Given the description of an element on the screen output the (x, y) to click on. 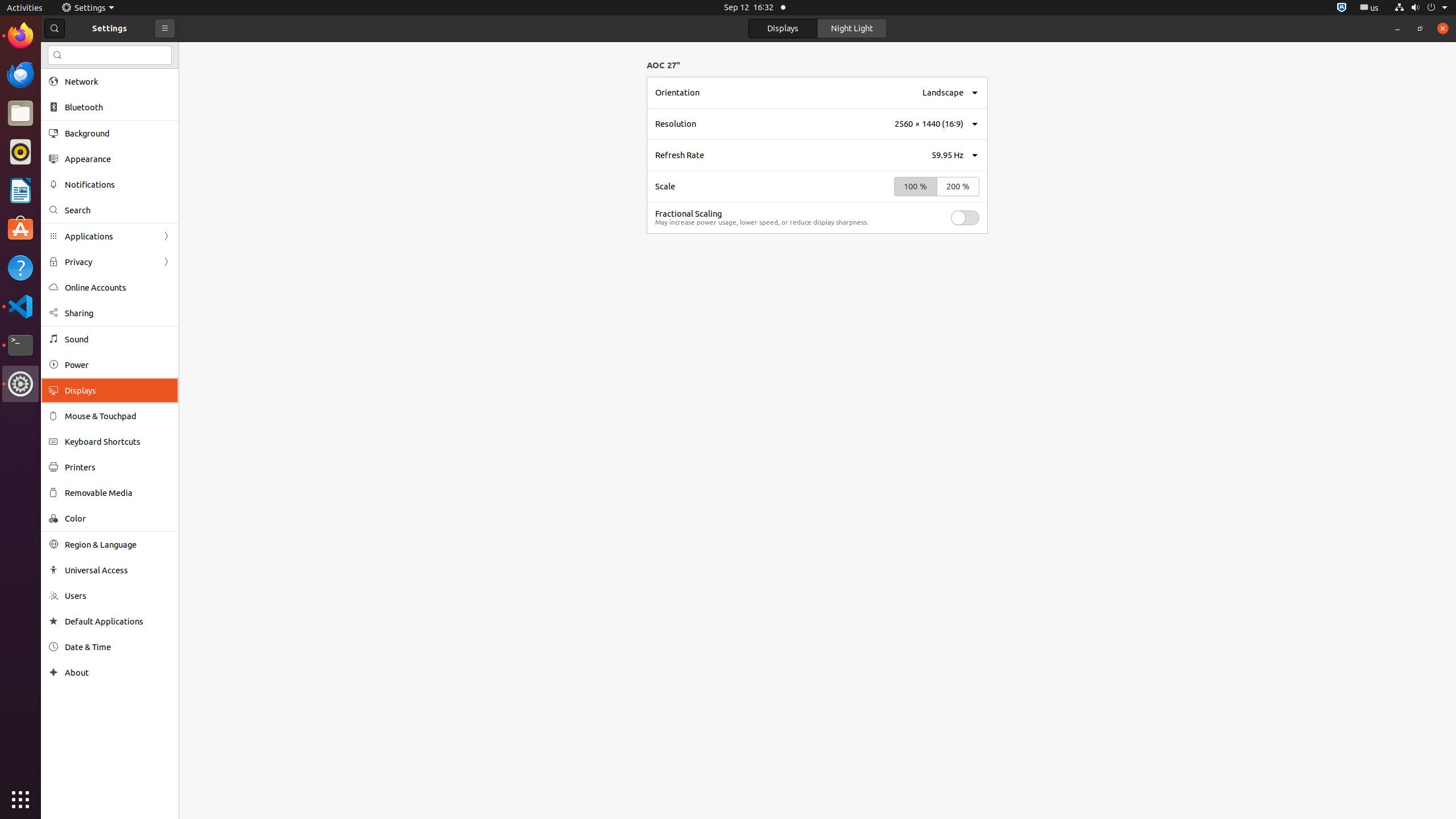
AOC 27" Element type: label (663, 64)
li.txt Element type: label (146, 50)
Activities Element type: label (24, 7)
Fractional Scaling Element type: label (688, 213)
